Given the description of an element on the screen output the (x, y) to click on. 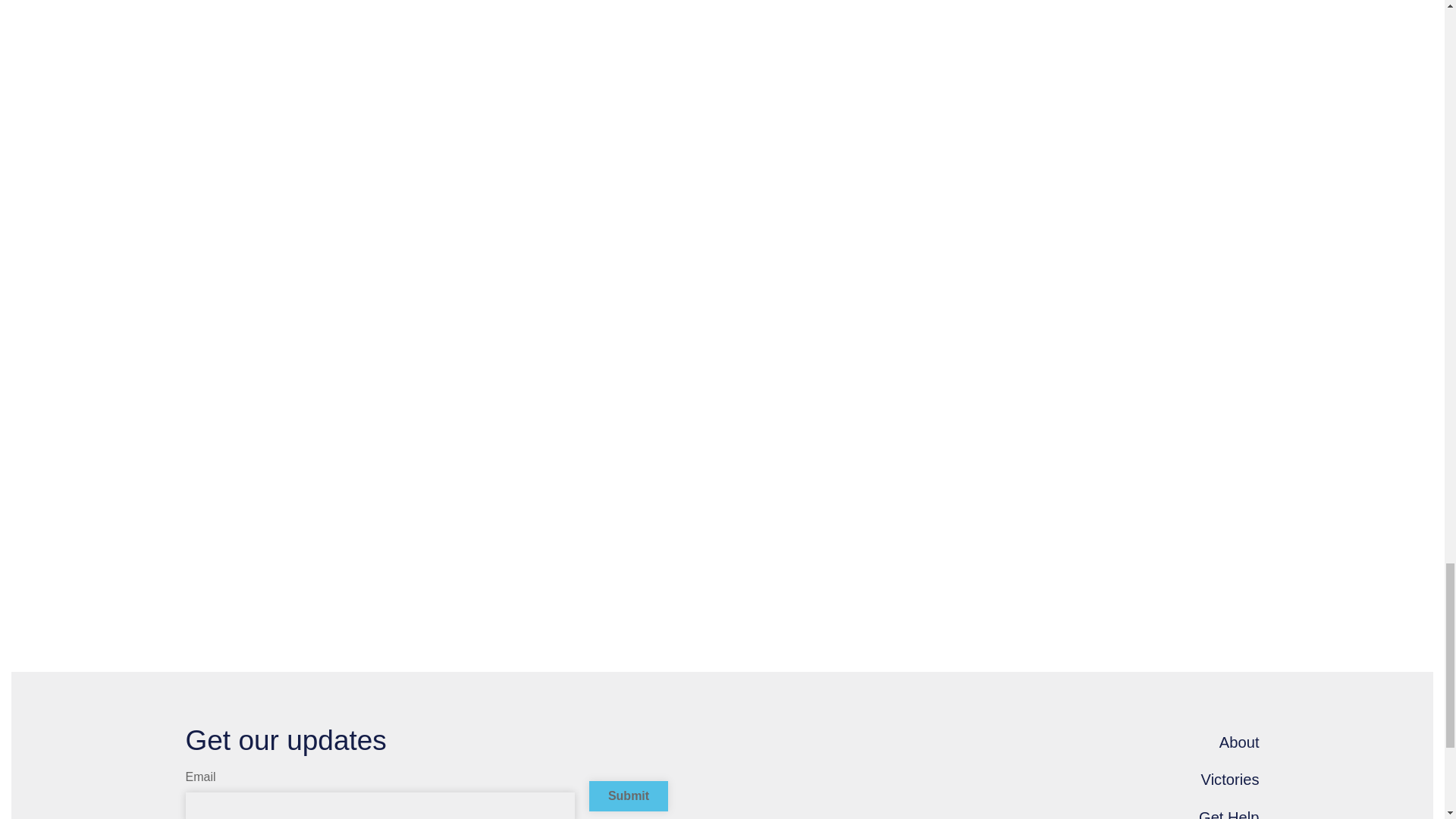
Submit (628, 796)
